Given the description of an element on the screen output the (x, y) to click on. 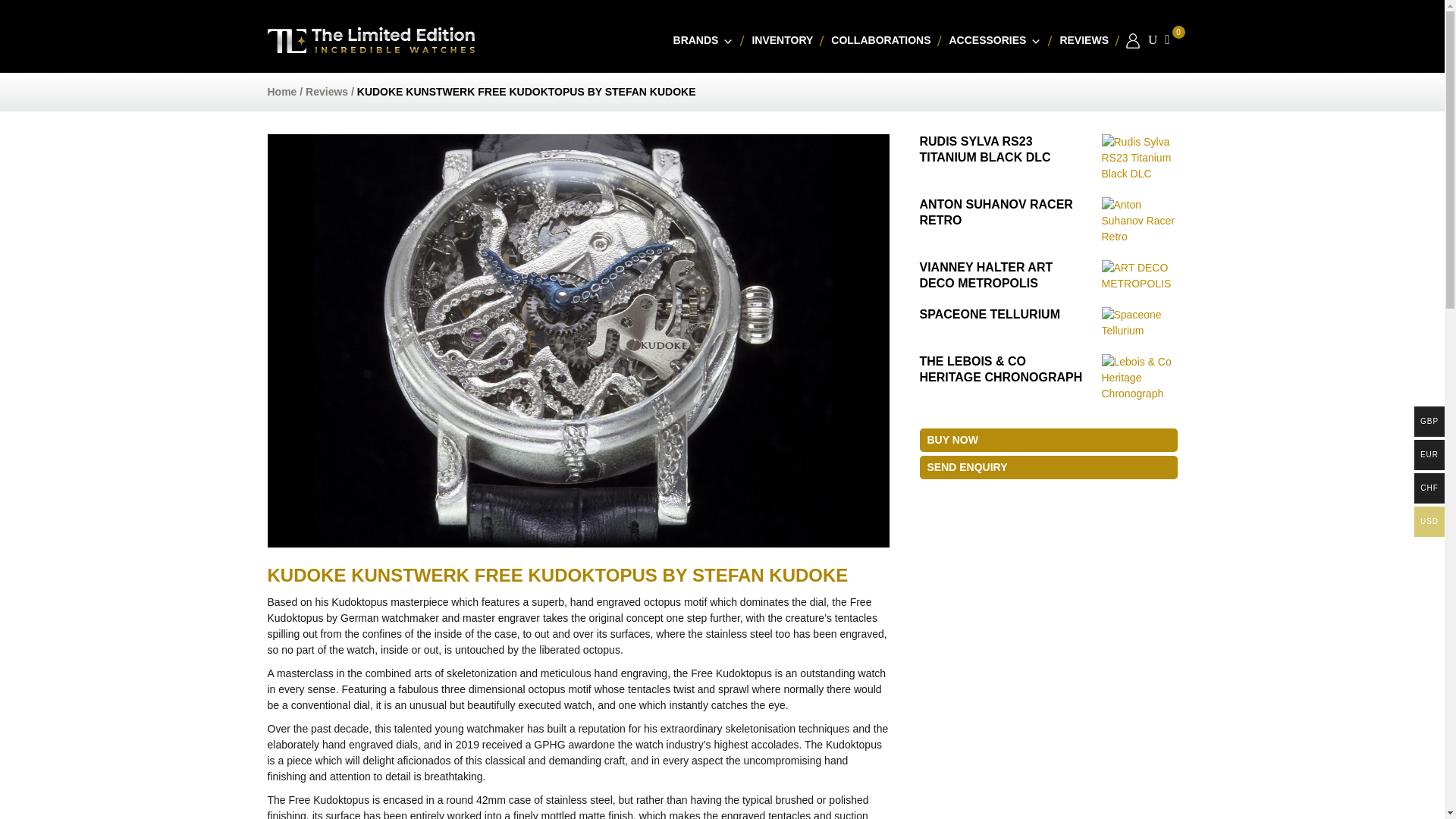
VIANNEY HALTER ART DECO METROPOLIS (985, 275)
ANTON SUHANOV RACER RETRO (994, 212)
REVIEWS (1083, 40)
BRANDS (702, 40)
site-main-logo (370, 39)
ACCESSORIES (995, 40)
SPACEONE TELLURIUM (988, 314)
COLLABORATIONS (880, 40)
RUDIS SYLVA RS23 TITANIUM BLACK DLC (983, 149)
INVENTORY (782, 40)
